Given the description of an element on the screen output the (x, y) to click on. 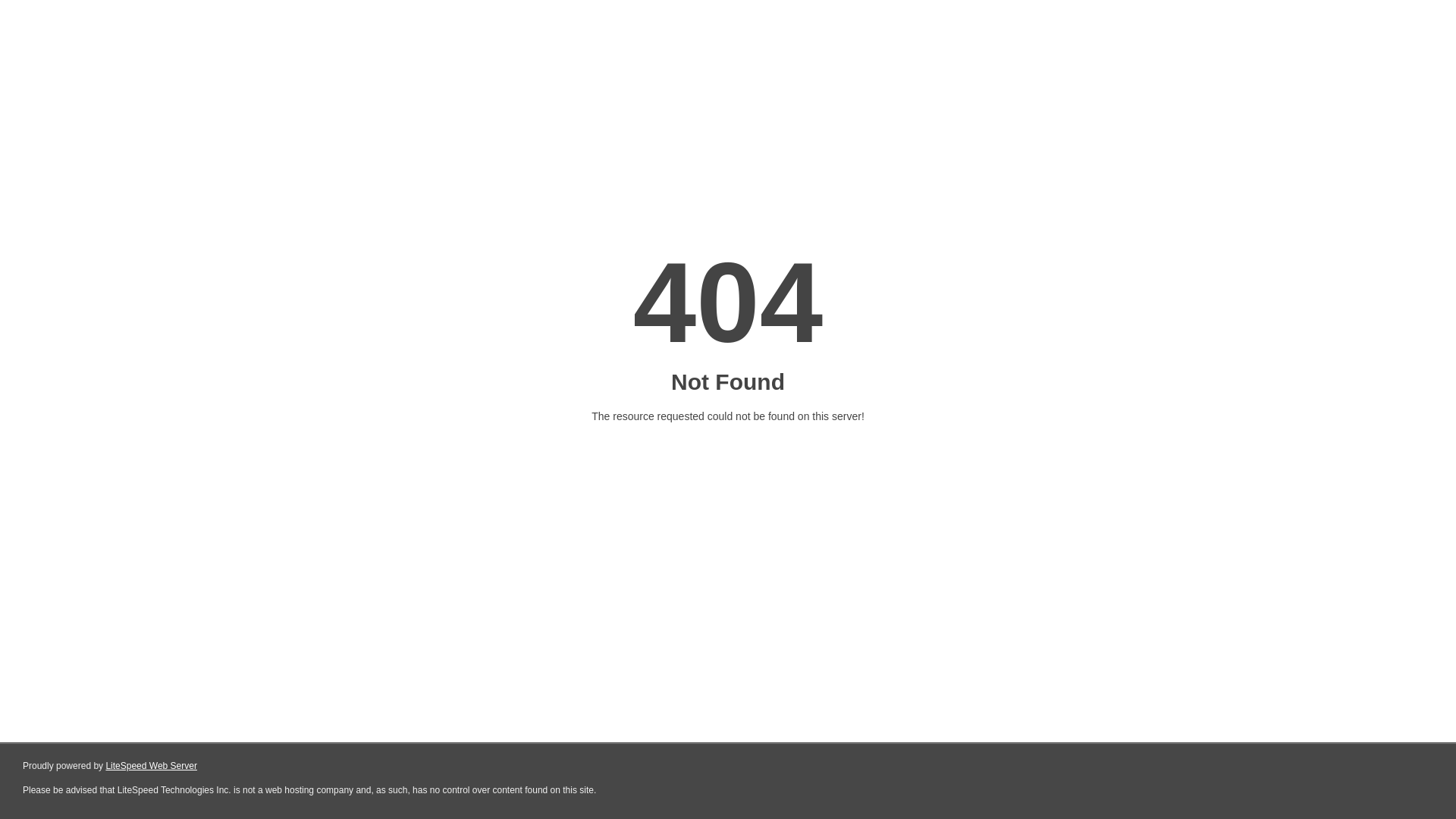
LiteSpeed Web Server Element type: text (151, 765)
